Given the description of an element on the screen output the (x, y) to click on. 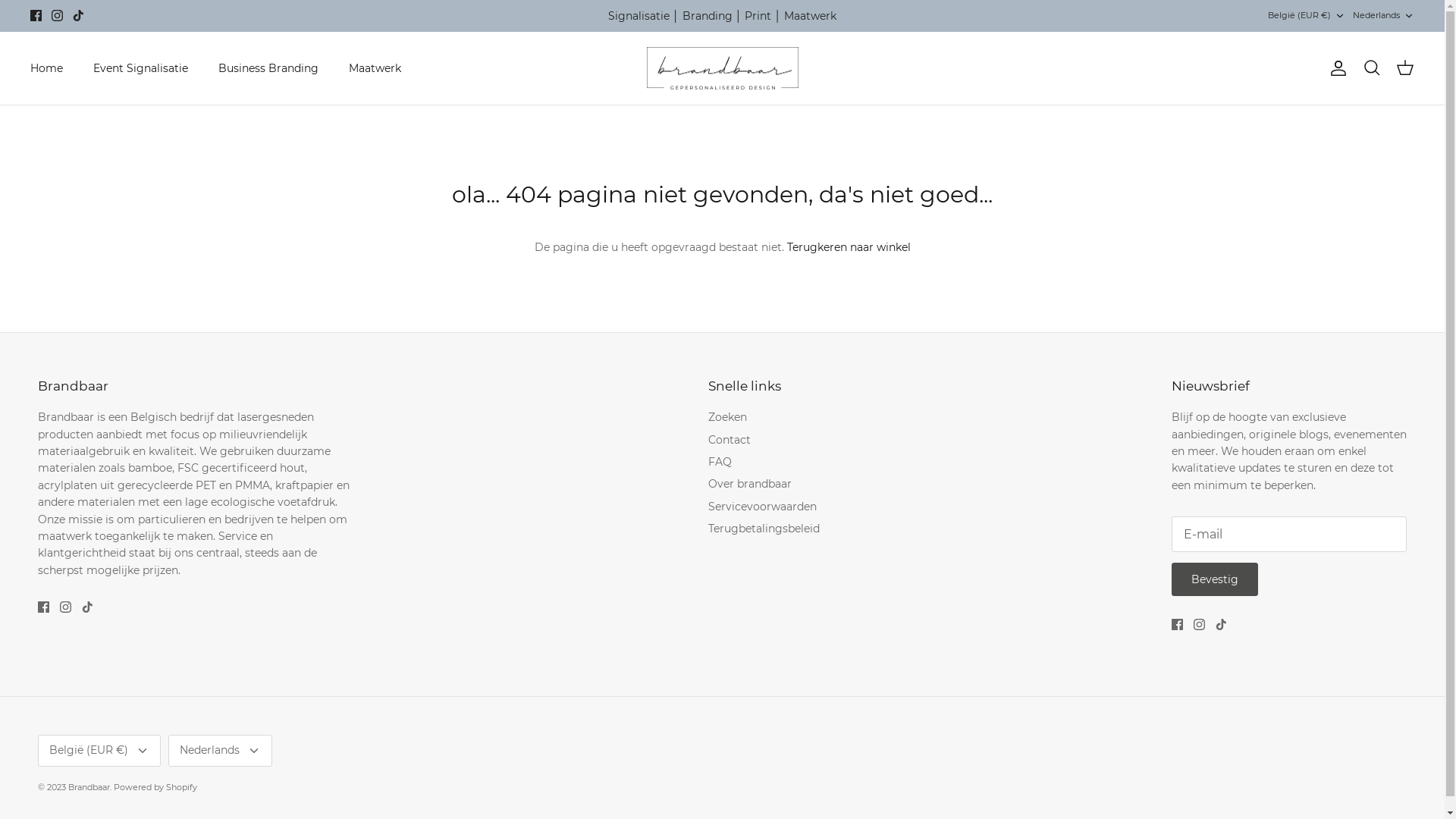
Servicevoorwaarden Element type: text (762, 506)
Business Branding Element type: text (268, 68)
Brandbaar Element type: text (88, 786)
Facebook Element type: text (1177, 624)
Instagram Element type: text (65, 606)
Maatwerk Element type: text (374, 68)
FAQ Element type: text (719, 461)
Contact Element type: text (729, 439)
Instagram Element type: text (56, 15)
Instagram Element type: text (1198, 624)
Terugbetalingsbeleid Element type: text (763, 528)
Nederlands
Omlaag Element type: text (220, 749)
Nederlands
Omlaag Element type: text (1383, 15)
Account Element type: text (1335, 68)
Event Signalisatie Element type: text (140, 68)
Bevestig Element type: text (1214, 579)
Zoeken Element type: text (1371, 68)
Zoeken Element type: text (727, 416)
Terugkeren naar winkel Element type: text (848, 247)
Brandbaar Element type: hover (721, 68)
Facebook Element type: text (43, 606)
Home Element type: text (46, 68)
Over brandbaar Element type: text (749, 483)
Facebook Element type: text (35, 15)
Winkelwagen Element type: text (1405, 68)
